Given the description of an element on the screen output the (x, y) to click on. 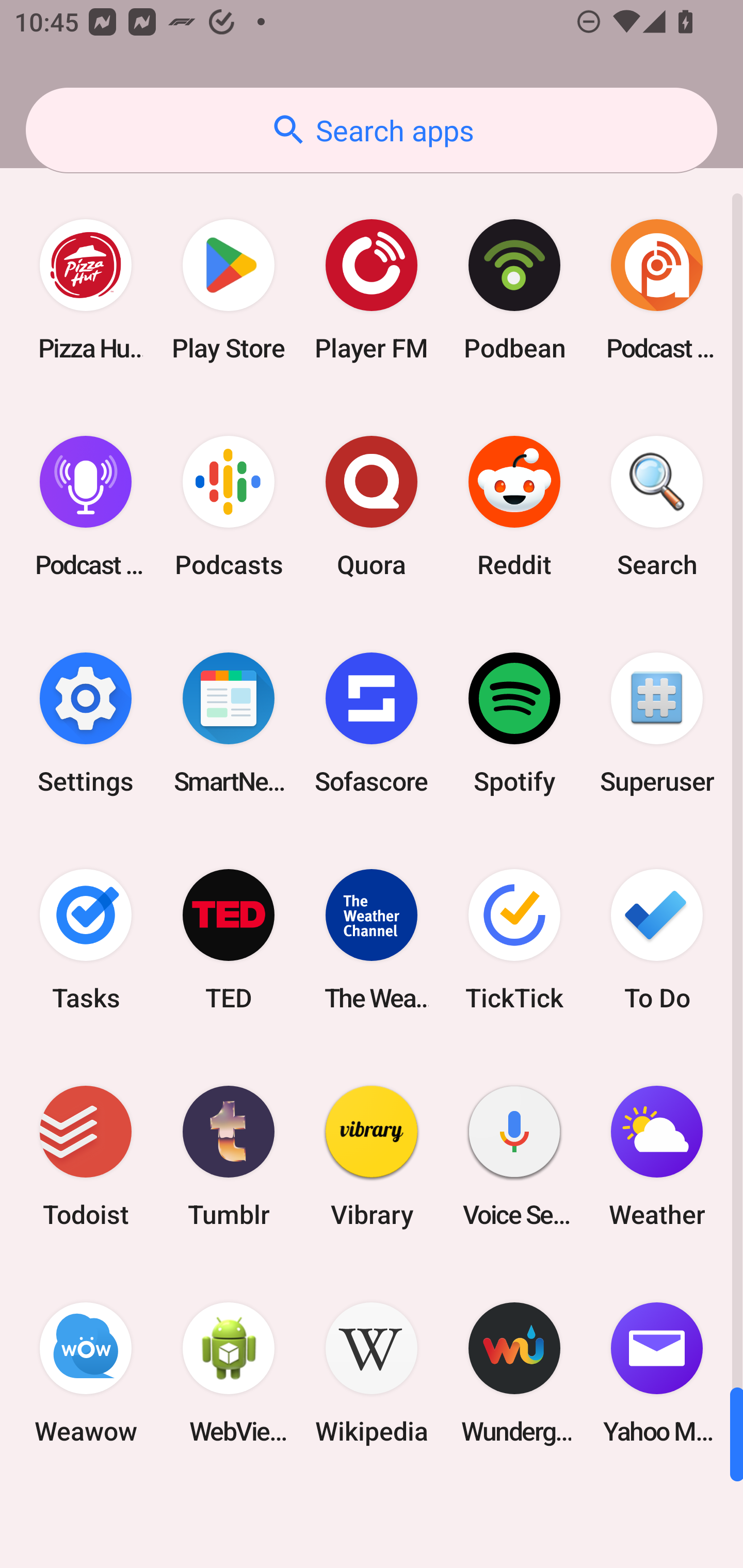
  Search apps (371, 130)
Pizza Hut HK & Macau (85, 289)
Play Store (228, 289)
Player FM (371, 289)
Podbean (514, 289)
Podcast Addict (656, 289)
Podcast Player (85, 506)
Podcasts (228, 506)
Quora (371, 506)
Reddit (514, 506)
Search (656, 506)
Settings (85, 722)
SmartNews (228, 722)
Sofascore (371, 722)
Spotify (514, 722)
Superuser (656, 722)
Tasks (85, 939)
TED (228, 939)
The Weather Channel (371, 939)
TickTick (514, 939)
To Do (656, 939)
Todoist (85, 1156)
Tumblr (228, 1156)
Vibrary (371, 1156)
Voice Search (514, 1156)
Weather (656, 1156)
Weawow (85, 1373)
WebView Browser Tester (228, 1373)
Wikipedia (371, 1373)
Wunderground (514, 1373)
Yahoo Mail (656, 1373)
